Given the description of an element on the screen output the (x, y) to click on. 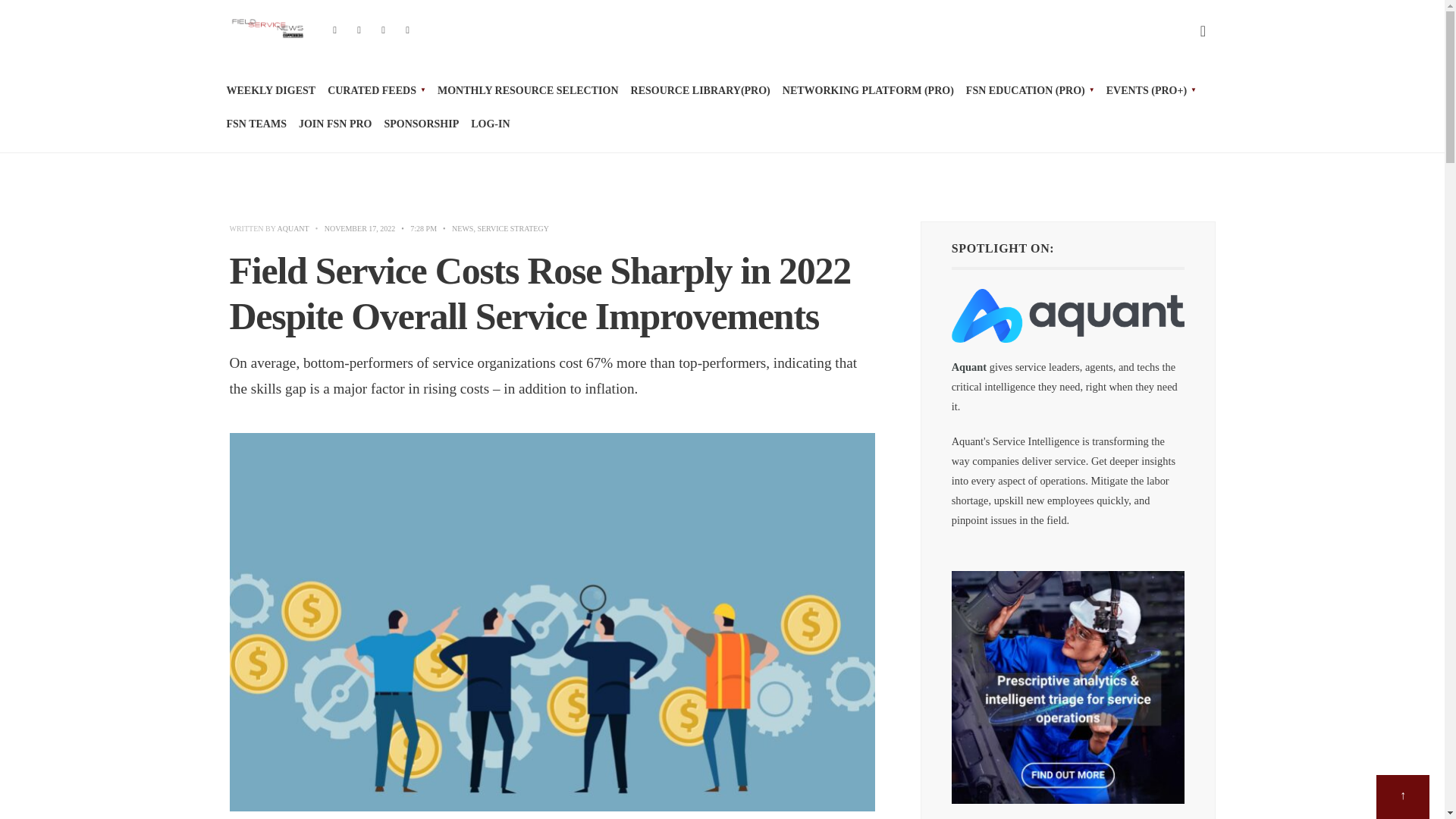
LOG-IN (489, 123)
Twitter (359, 30)
AQUANT (292, 228)
LinkedIn (408, 30)
SPONSORSHIP (421, 123)
Facebook (335, 30)
MONTHLY RESOURCE SELECTION (528, 90)
CURATED FEEDS (376, 90)
Posts by Aquant (292, 228)
JOIN FSN PRO (334, 123)
YouTube (383, 30)
FSN TEAMS (255, 123)
NEWS (462, 228)
SERVICE STRATEGY (512, 228)
